Given the description of an element on the screen output the (x, y) to click on. 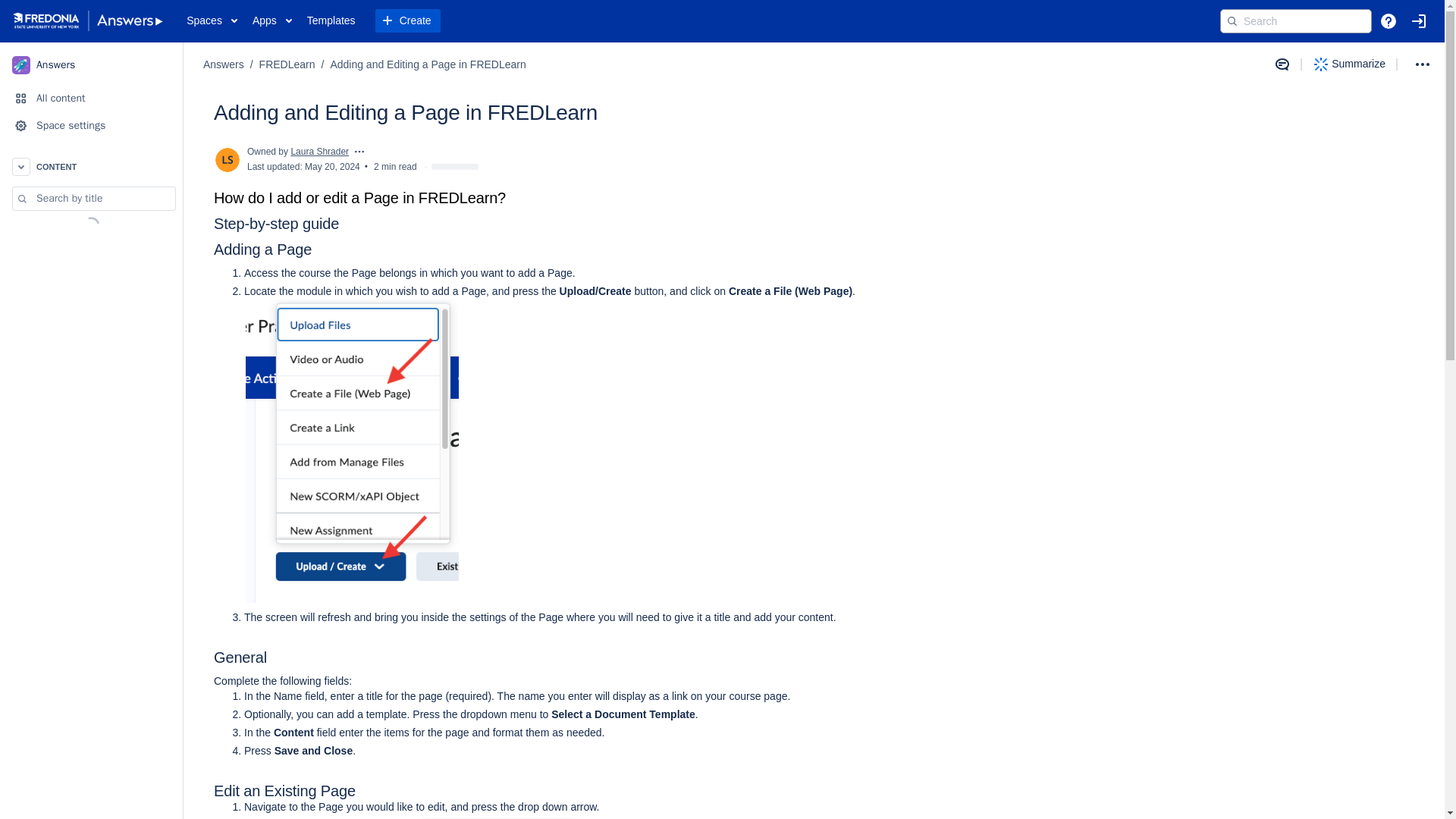
FREDLearn (287, 64)
Adding and Editing a Page in FREDLearn (427, 64)
Summarize (1349, 63)
May 20, 2024 (331, 166)
Laura Shrader (319, 151)
Spaces (211, 21)
Answers (90, 64)
Space settings (90, 125)
Apps (272, 21)
Templates (330, 21)
